Given the description of an element on the screen output the (x, y) to click on. 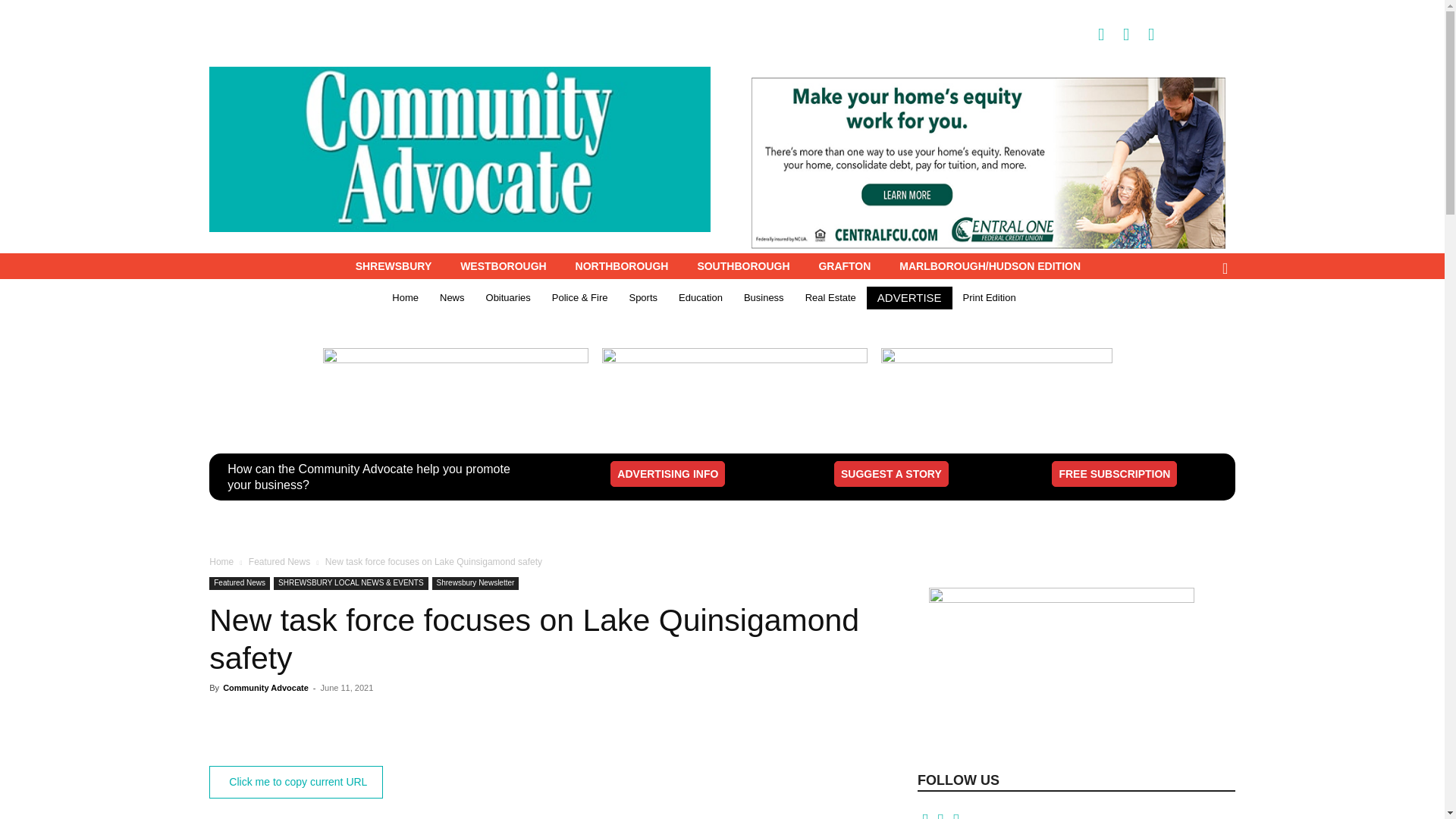
Instagram (1117, 33)
Free Subscription (1113, 473)
Facebook (1092, 33)
View all posts in Featured News (279, 561)
WESTBOROUGH (502, 265)
Suggest a Story (891, 473)
Twitter (1142, 33)
SHREWSBURY (393, 265)
Community Advocate logo (459, 148)
SOUTHBOROUGH (742, 265)
NORTHBOROUGH (621, 265)
GRAFTON (844, 265)
Advertising Info (667, 473)
Community Advocate (459, 148)
